Given the description of an element on the screen output the (x, y) to click on. 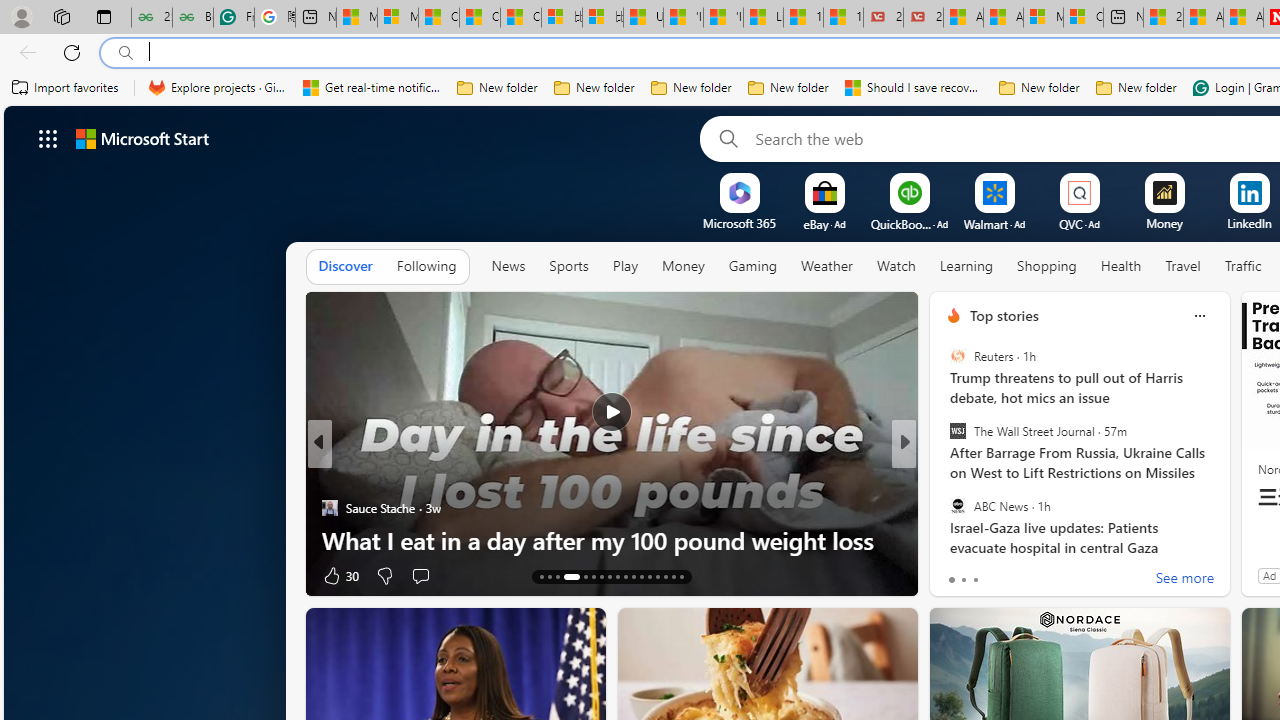
AutomationID: tab-24 (641, 576)
25 Basic Linux Commands For Beginners - GeeksforGeeks (151, 17)
View comments 25 Comment (1051, 574)
AutomationID: tab-13 (541, 576)
Delish (944, 475)
AutomationID: waffle (47, 138)
View comments 59 Comment (1051, 574)
AutomationID: tab-19 (600, 576)
Learning (965, 265)
15 Ways Modern Life Contradicts the Teachings of Jesus (843, 17)
